Given the description of an element on the screen output the (x, y) to click on. 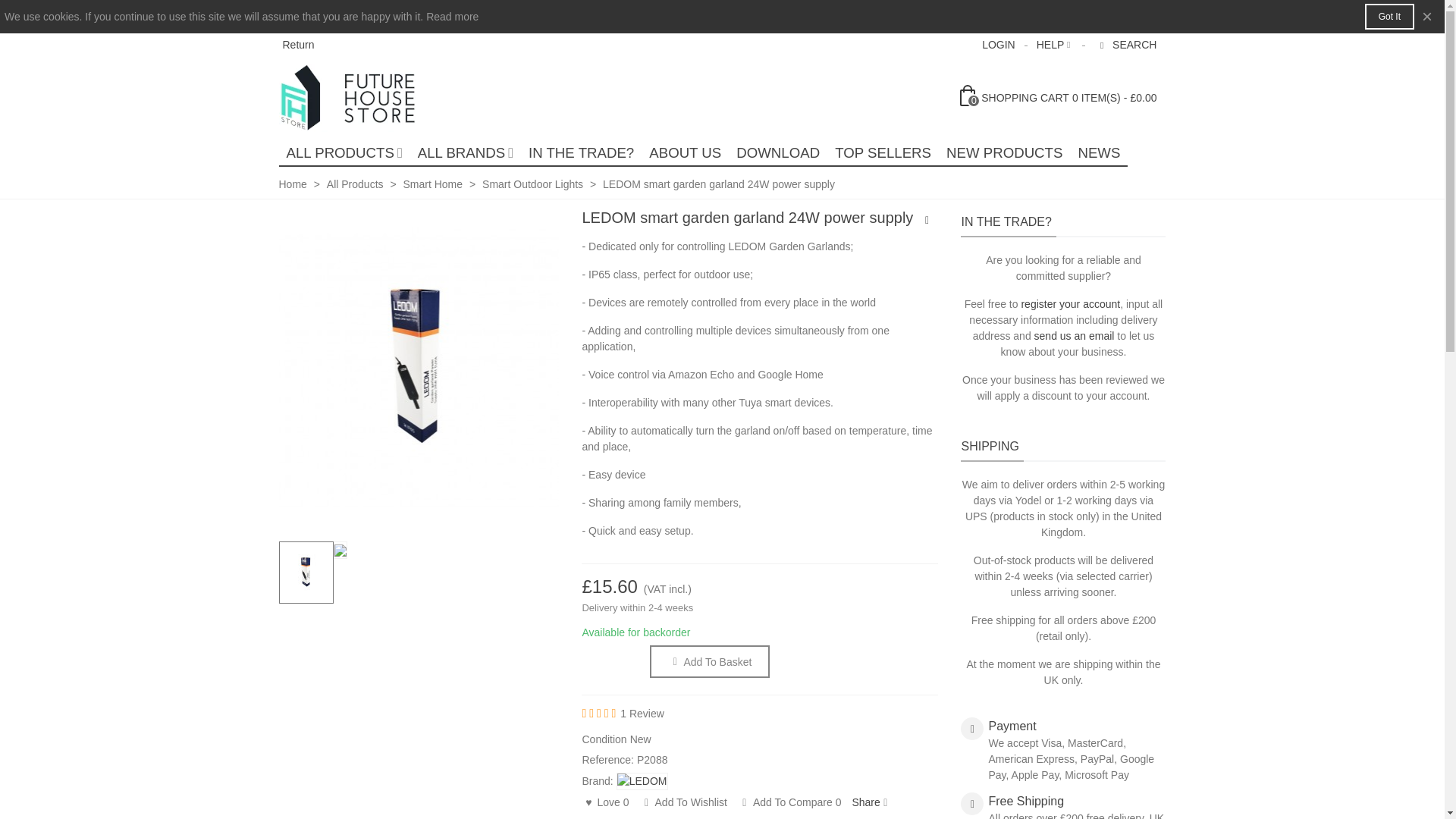
Got it (1389, 16)
Search (1126, 44)
View my shopping cart (1058, 97)
ALL PRODUCTS (344, 153)
All Products (344, 153)
Log in to your customer account (998, 44)
Got It (1389, 16)
Future House Store (362, 97)
Read more (452, 16)
SEARCH (1126, 44)
Click here to apply for returns (298, 43)
LOGIN (998, 44)
Read more (452, 16)
Return (298, 43)
